Given the description of an element on the screen output the (x, y) to click on. 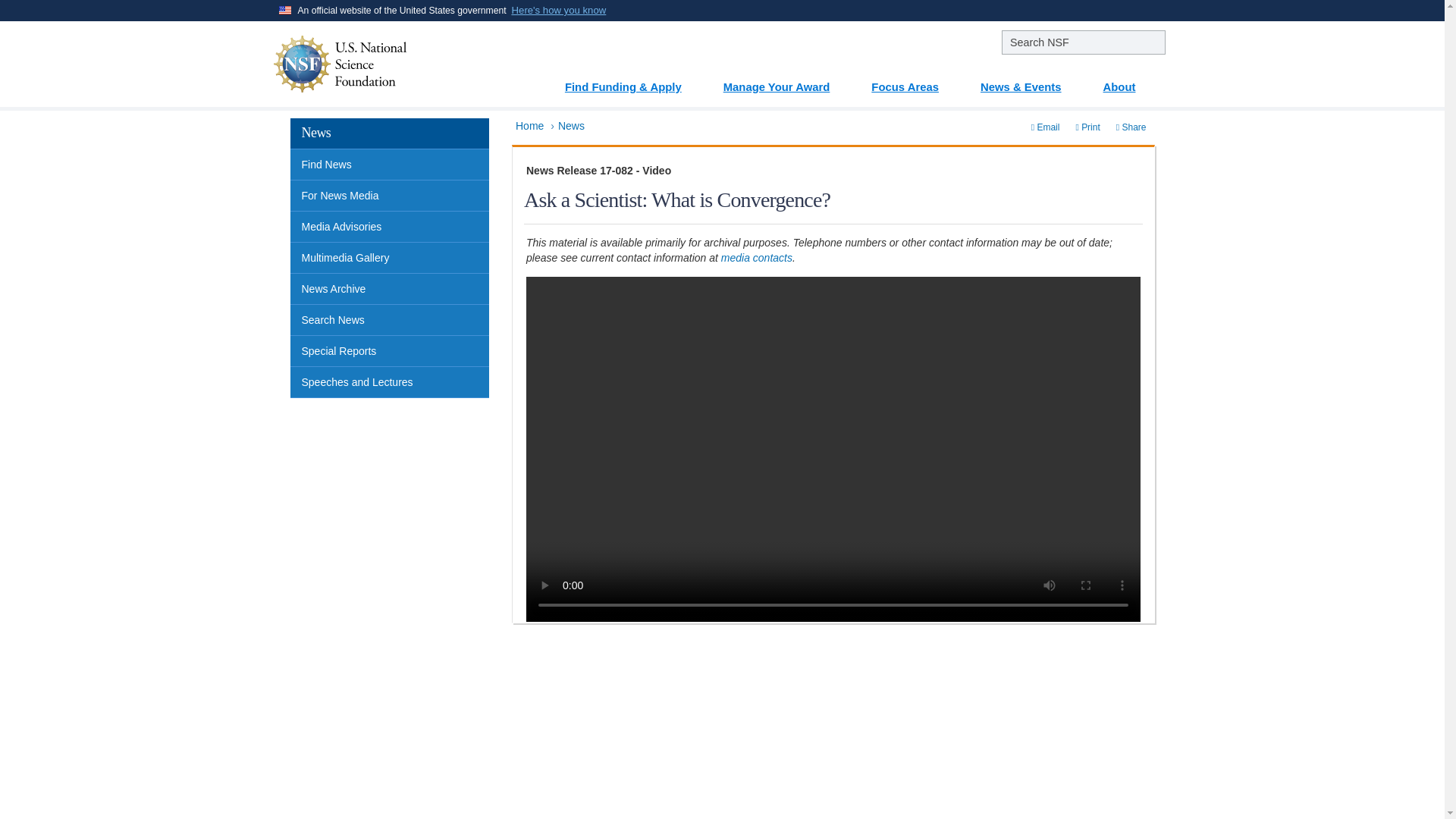
Email (1045, 127)
NSF - National Science Foundation - Home (386, 64)
About (1128, 81)
News Archive (389, 288)
Special Reports (389, 350)
News (571, 125)
Find News (389, 164)
Media Advisories (389, 226)
Focus Areas (913, 81)
media contacts (756, 257)
